Given the description of an element on the screen output the (x, y) to click on. 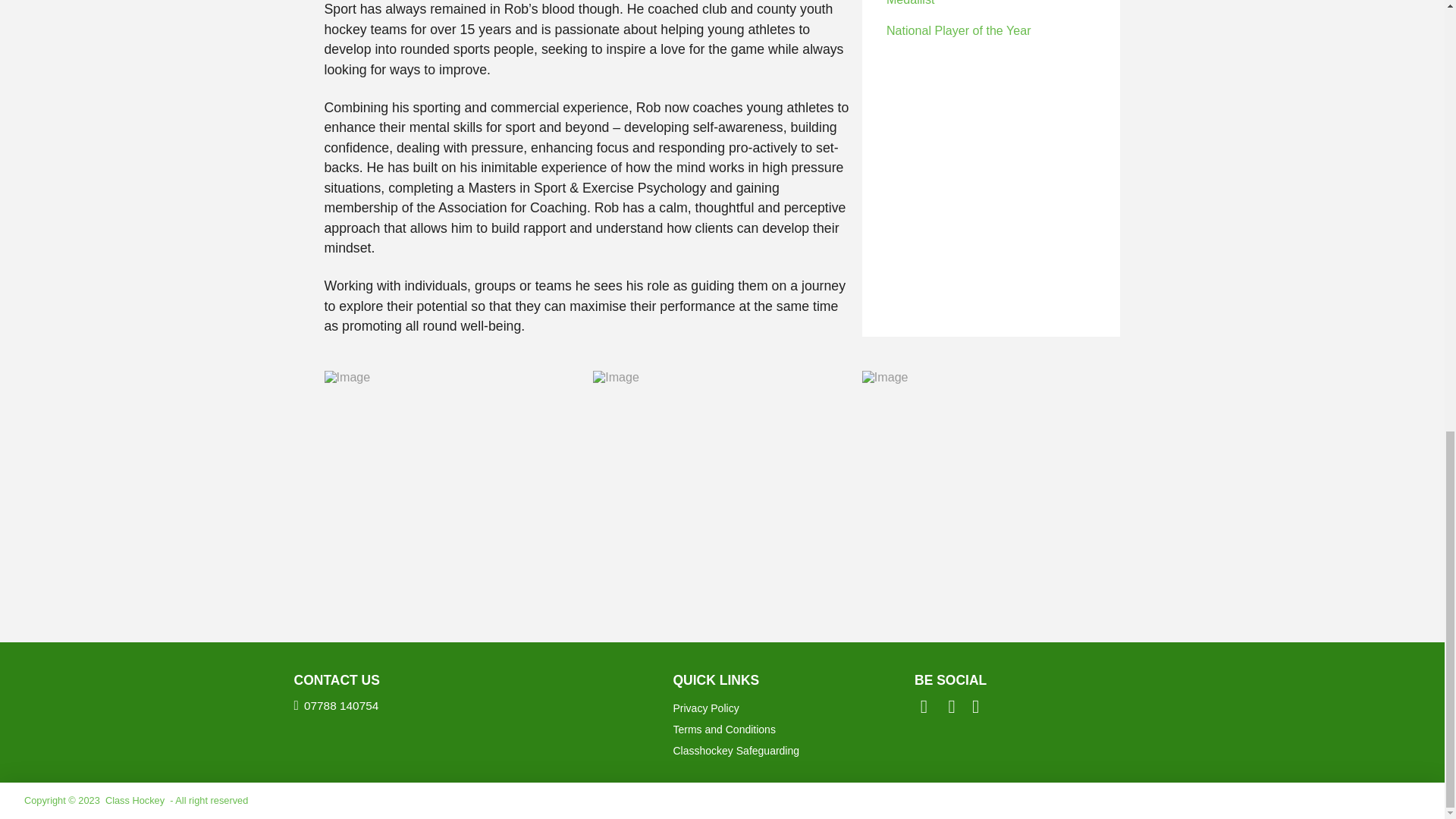
Privacy Policy (791, 708)
Classhockey Safeguarding (791, 750)
Terms and Conditions (791, 729)
